Given the description of an element on the screen output the (x, y) to click on. 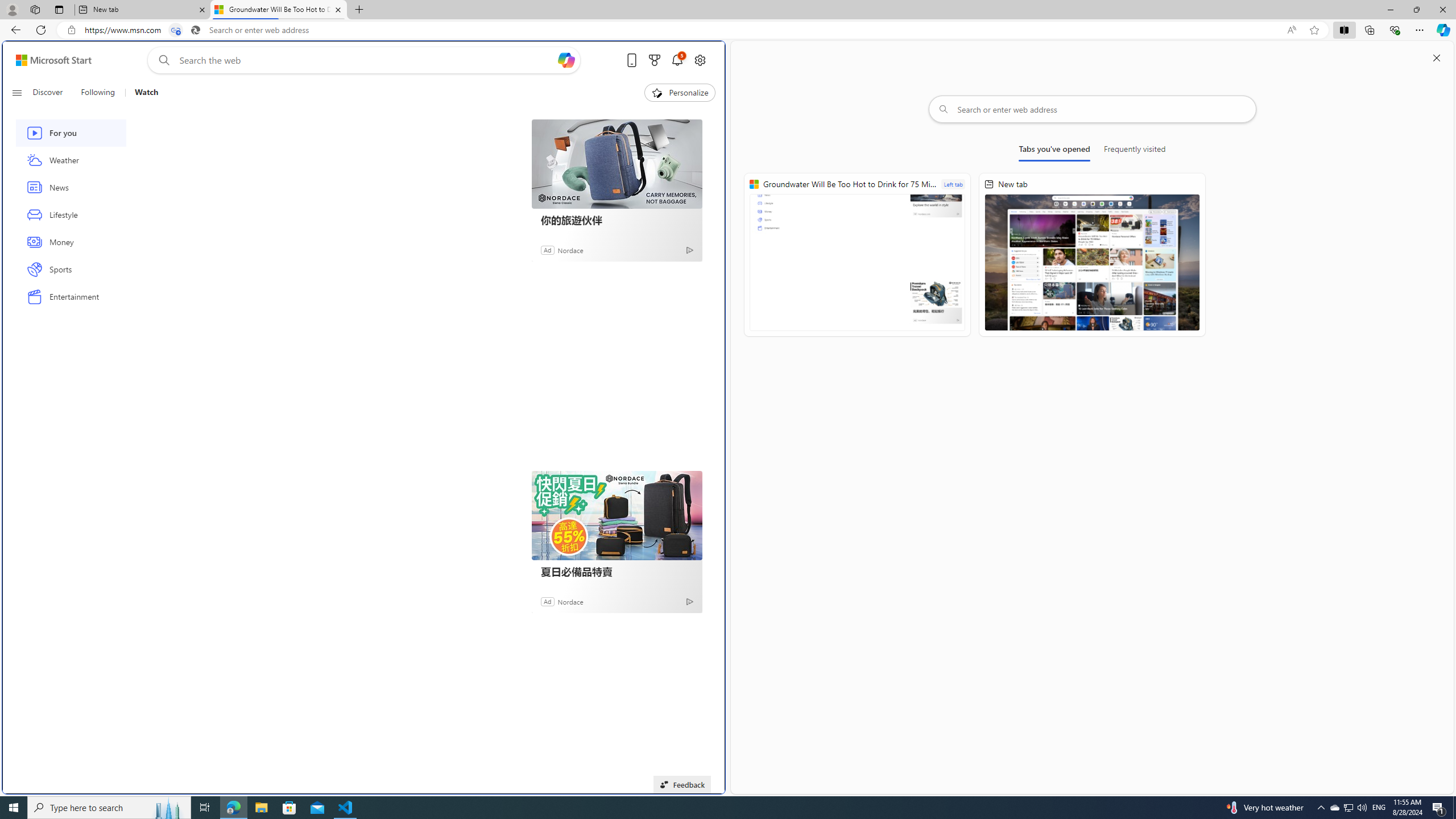
Tabs in split screen (175, 29)
Microsoft rewards (654, 60)
Skip to footer (46, 59)
Web search (161, 60)
